Given the description of an element on the screen output the (x, y) to click on. 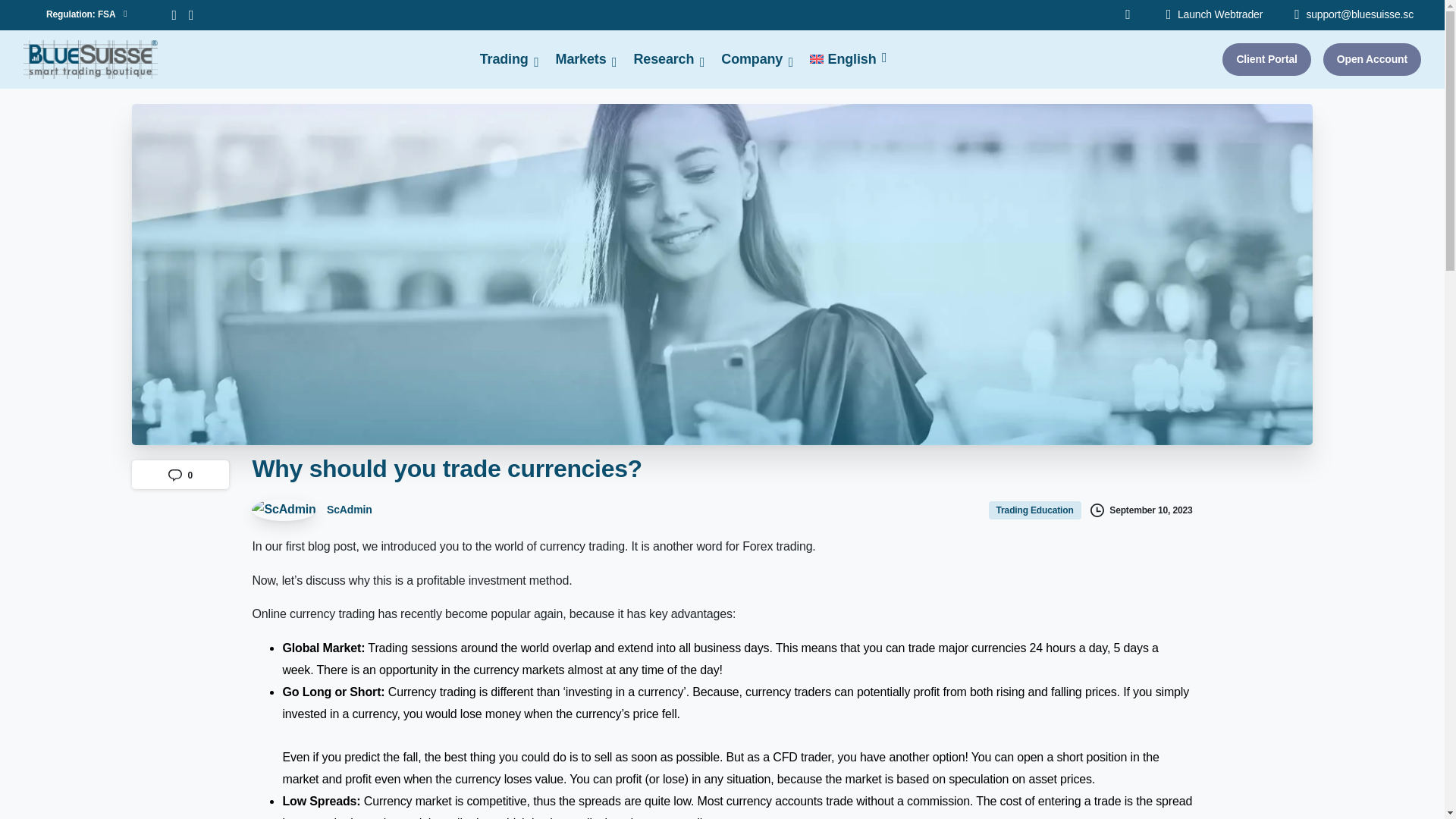
Markets (581, 58)
Open Account (1372, 59)
twitter (174, 15)
Trading (504, 58)
Research (663, 58)
Trading Education (1036, 508)
Launch Webtrader (1214, 15)
Research (831, 59)
Client Portal (663, 58)
Trading (1266, 59)
ScAdmin (504, 58)
Regulation: FSA (311, 509)
linkedin (86, 14)
Company (191, 15)
